Given the description of an element on the screen output the (x, y) to click on. 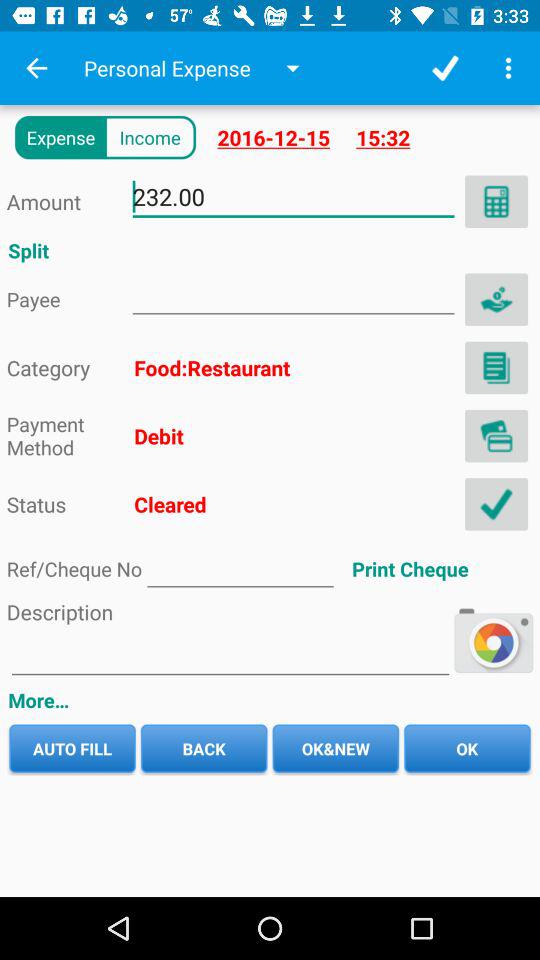
text decription (230, 655)
